Given the description of an element on the screen output the (x, y) to click on. 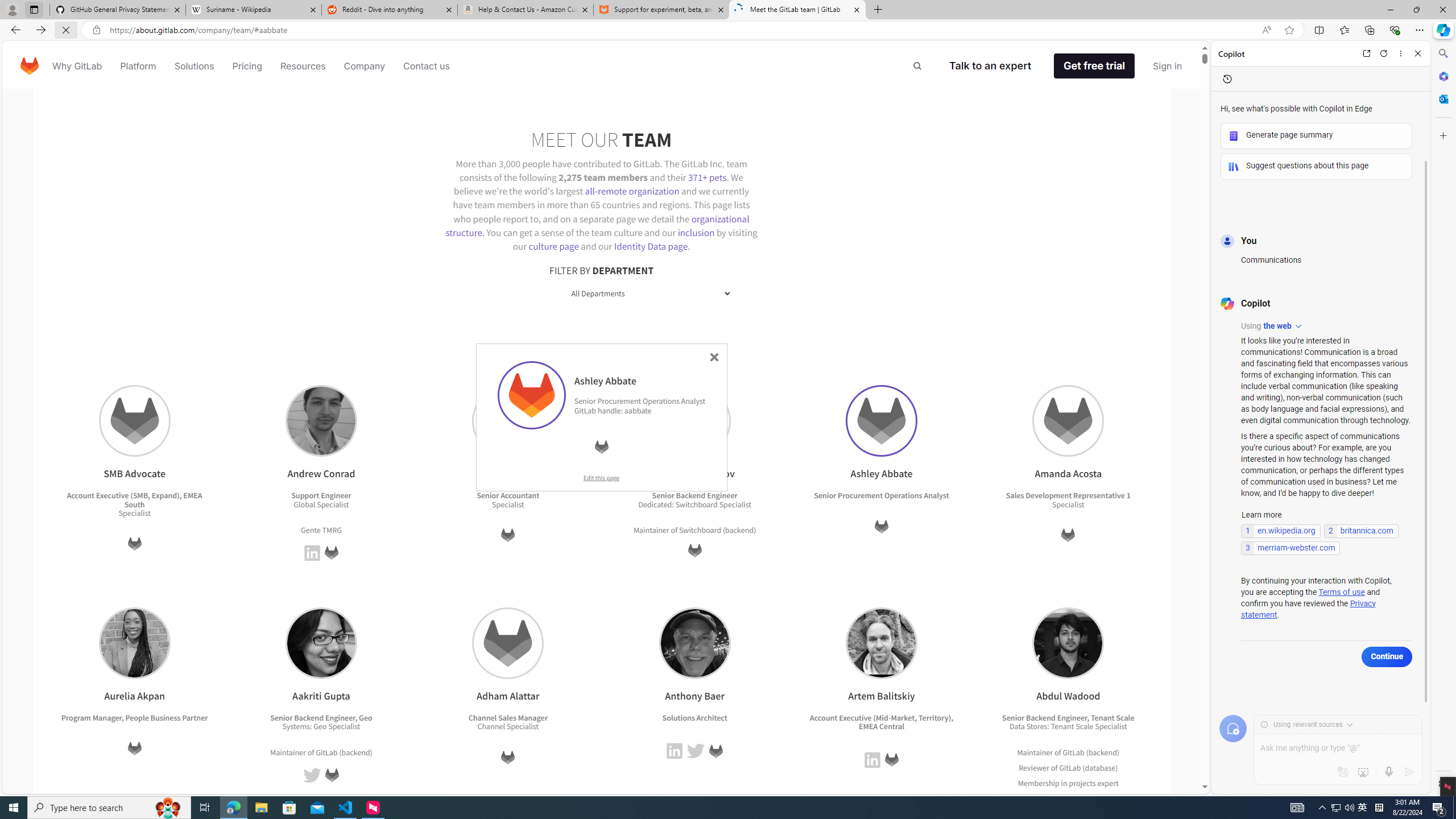
Aakriti Gupta (320, 642)
Channel Sales Manager (507, 717)
Aurelia Akpan (134, 642)
AutomationID: navigation (601, 64)
Account Executive (Mid-Market, Territory), EMEA Central (881, 721)
Reviewer of GitLab (database) (1067, 767)
Maintainer (1034, 751)
Why GitLab (77, 65)
Amanda Acosta (1068, 420)
Reddit - Dive into anything (390, 9)
Company (364, 65)
